Given the description of an element on the screen output the (x, y) to click on. 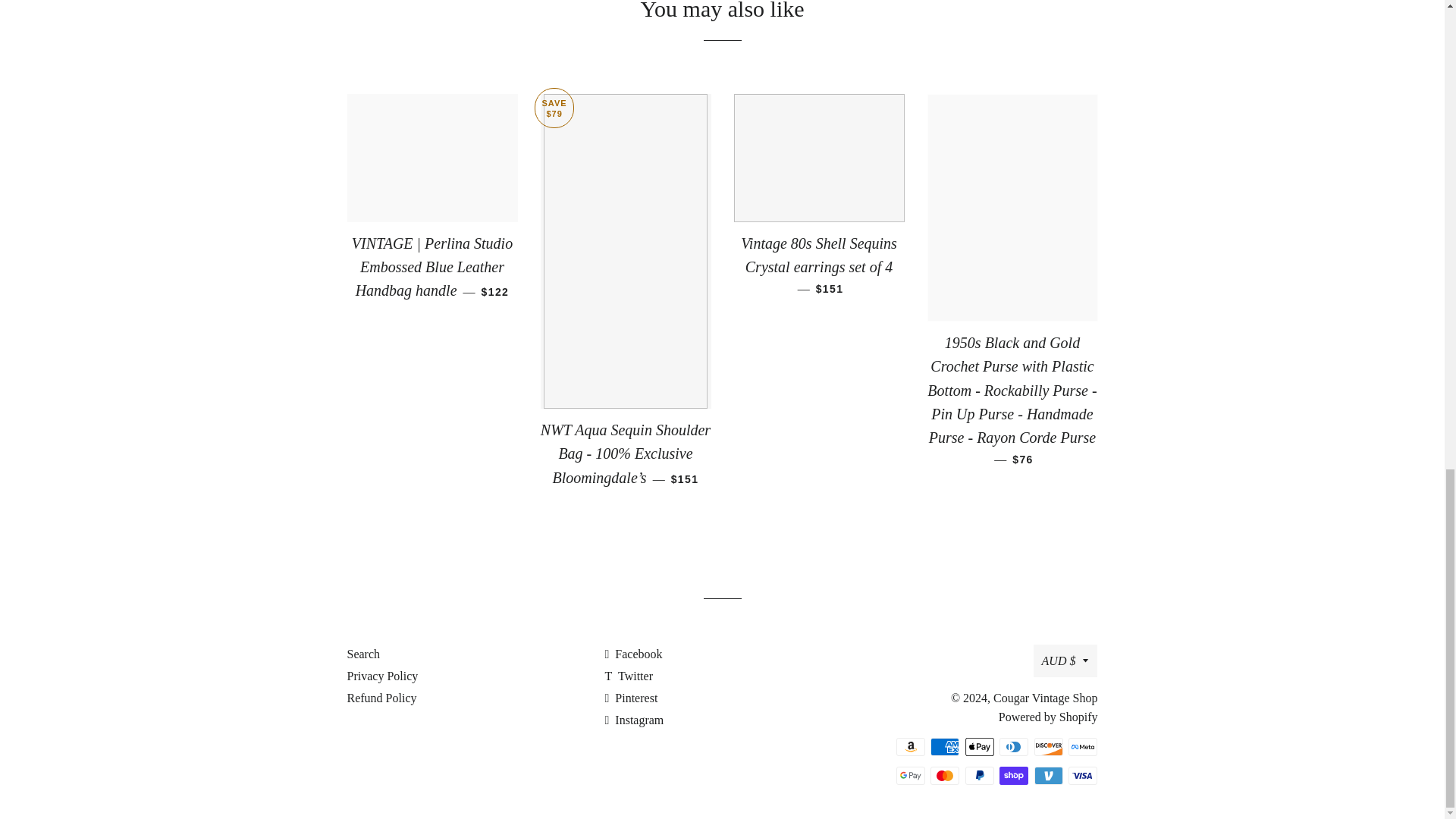
Diners Club (1012, 746)
Refund Policy (381, 697)
Twitter (628, 675)
PayPal (979, 775)
Meta Pay (1082, 746)
Visa (1082, 775)
Google Pay (910, 775)
Shop Pay (1012, 775)
Discover (1047, 746)
Mastercard (944, 775)
